Given the description of an element on the screen output the (x, y) to click on. 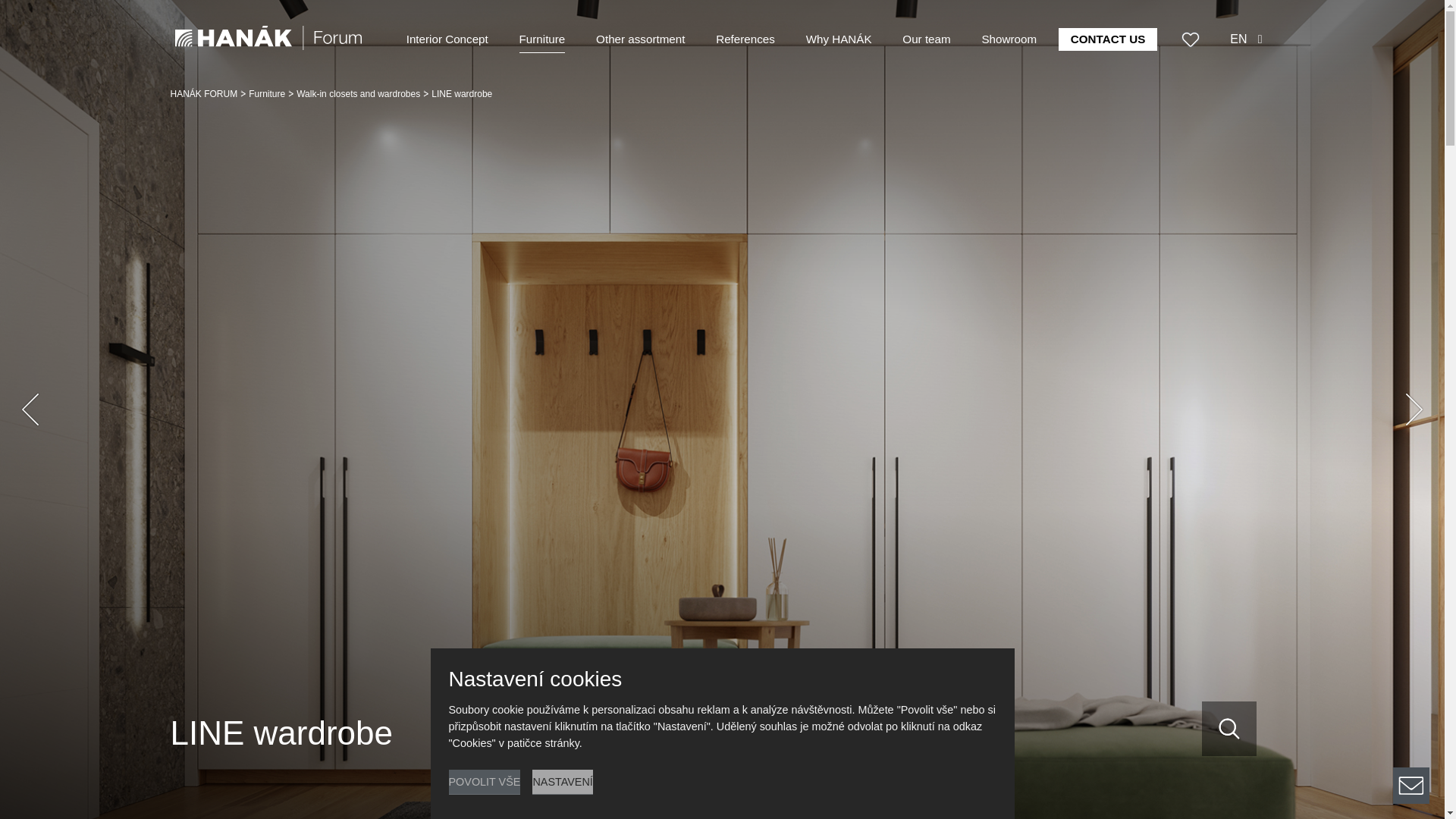
Our team (926, 39)
Favorites (1189, 39)
References (745, 39)
Furniture (542, 39)
Walk-in closets and wardrobes (358, 92)
Showroom (1008, 39)
Furniture (266, 92)
CONTACT US (1107, 39)
EN (1246, 39)
Interior Concept (446, 39)
Other assortment (639, 39)
